Given the description of an element on the screen output the (x, y) to click on. 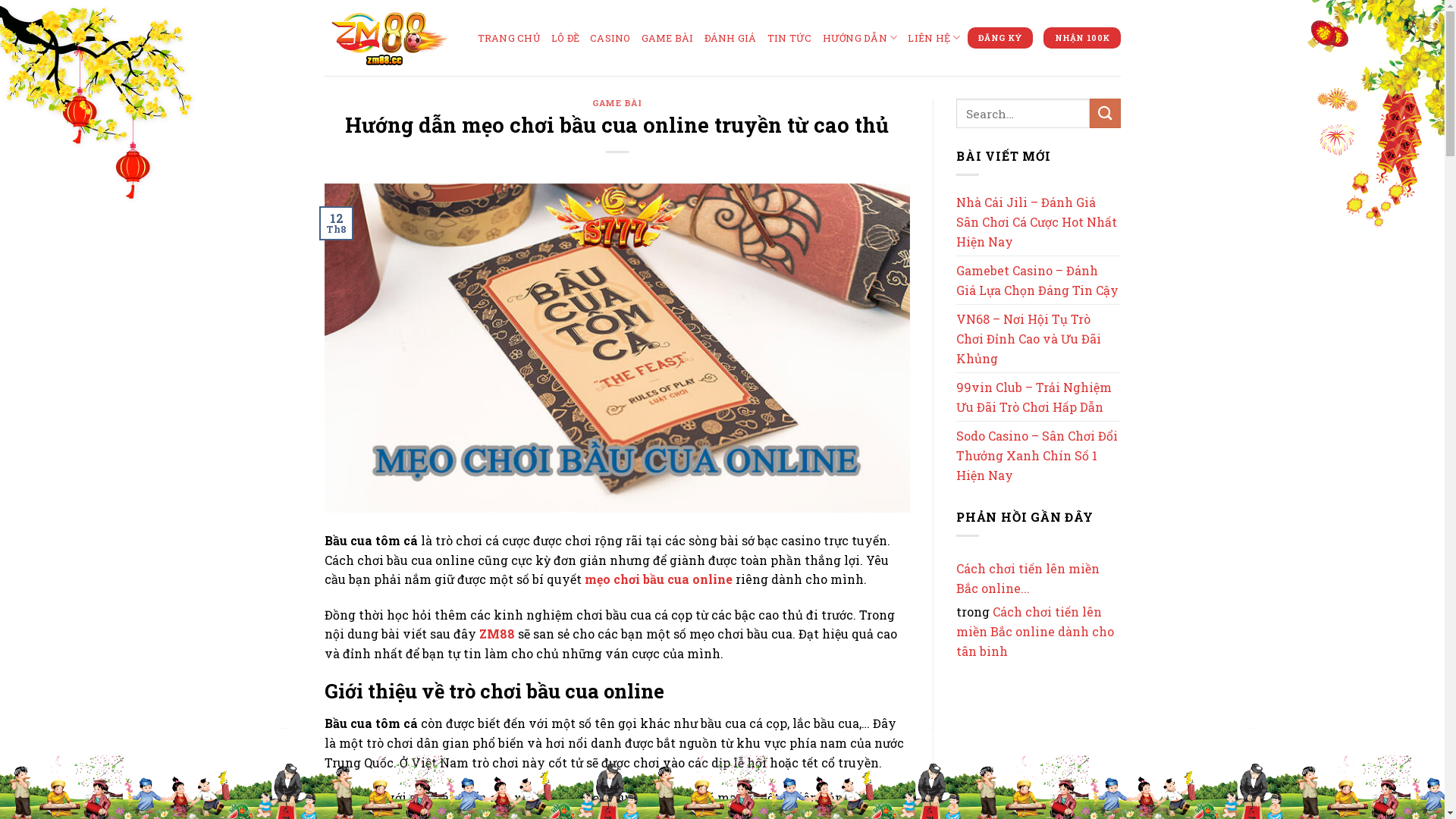
CASINO Element type: text (609, 37)
zm88 Element type: hover (389, 37)
ZM88 Element type: text (496, 633)
